Given the description of an element on the screen output the (x, y) to click on. 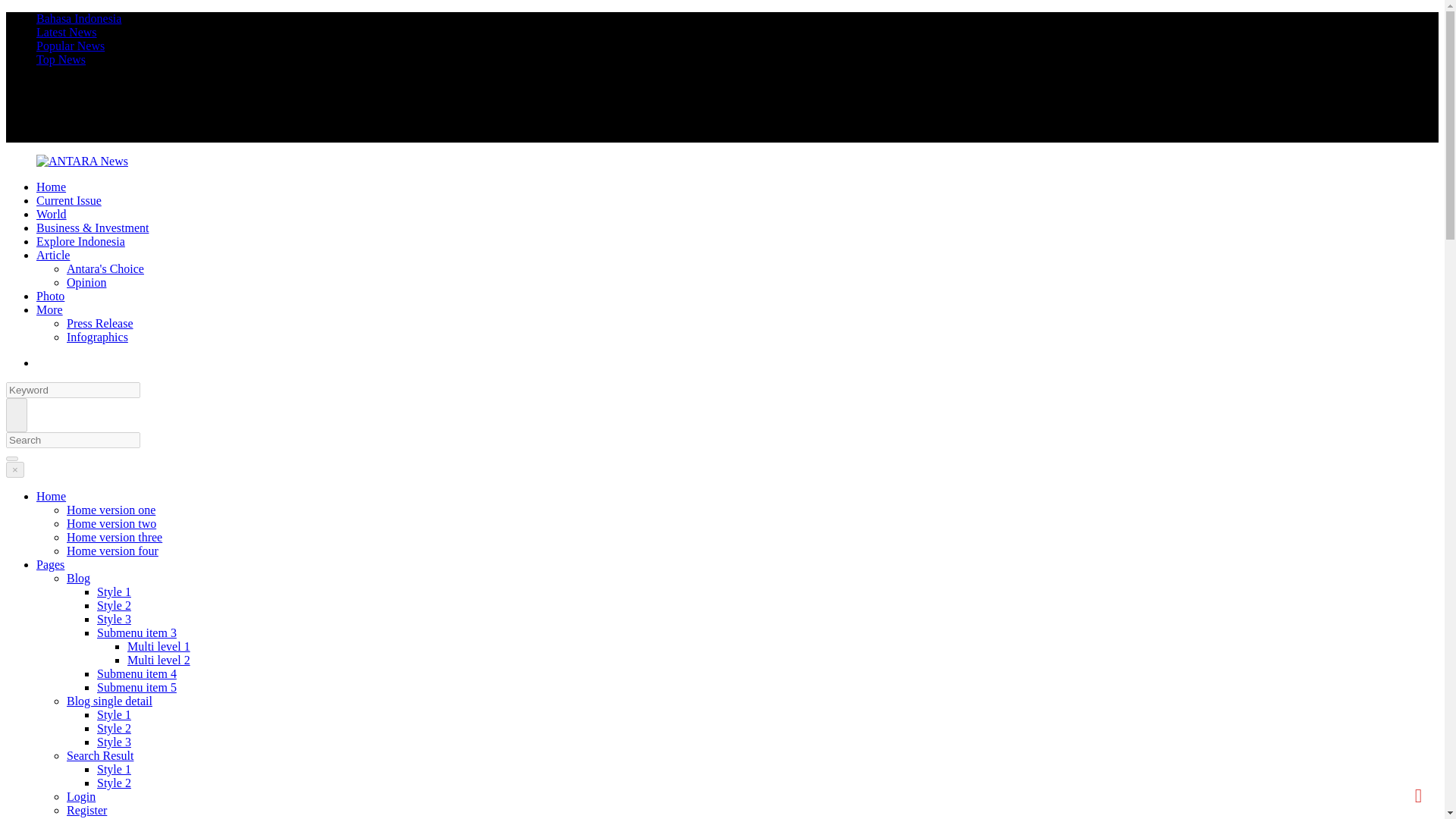
Top News (60, 59)
Antara's Choice (105, 268)
Multi level 2 (159, 659)
Popular News (70, 45)
Press Release (99, 323)
Opinion (86, 282)
Article (52, 254)
Opinion (86, 282)
Infographics (97, 336)
World (51, 214)
